Given the description of an element on the screen output the (x, y) to click on. 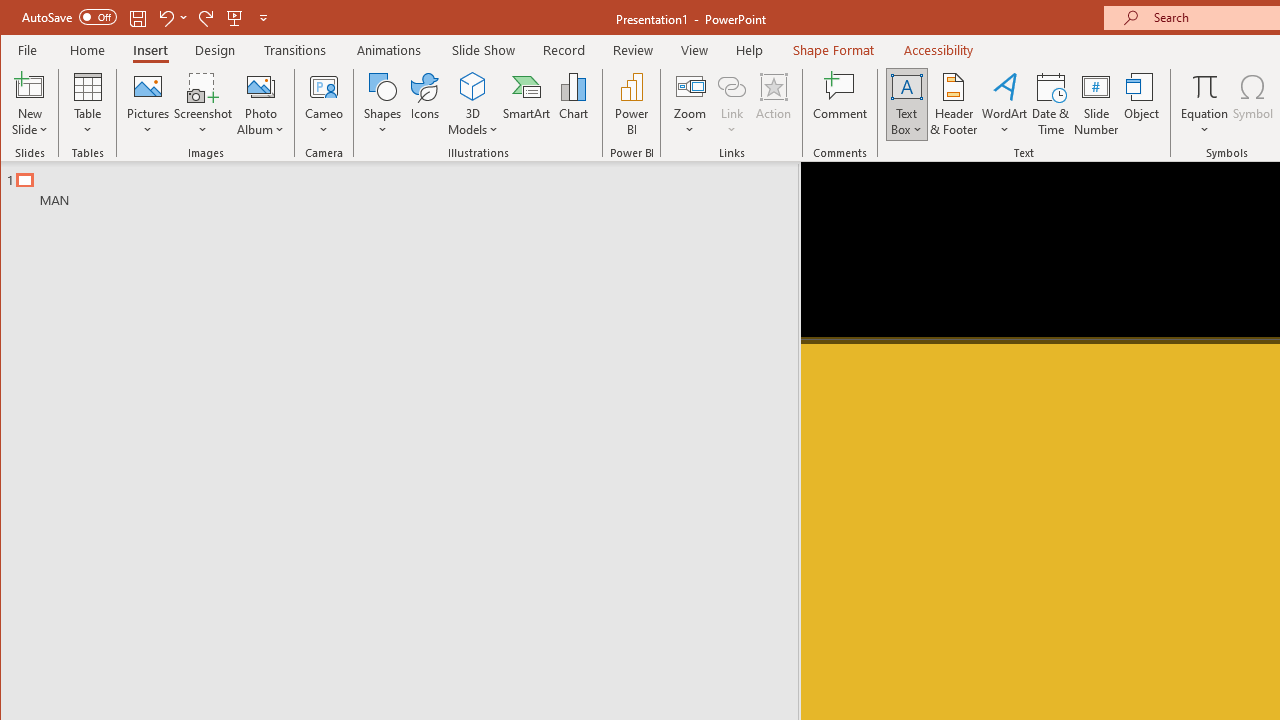
Comment (840, 104)
Equation (1204, 104)
Link (731, 104)
Power BI (631, 104)
Link (731, 86)
New Photo Album... (260, 86)
Date & Time... (1051, 104)
